Given the description of an element on the screen output the (x, y) to click on. 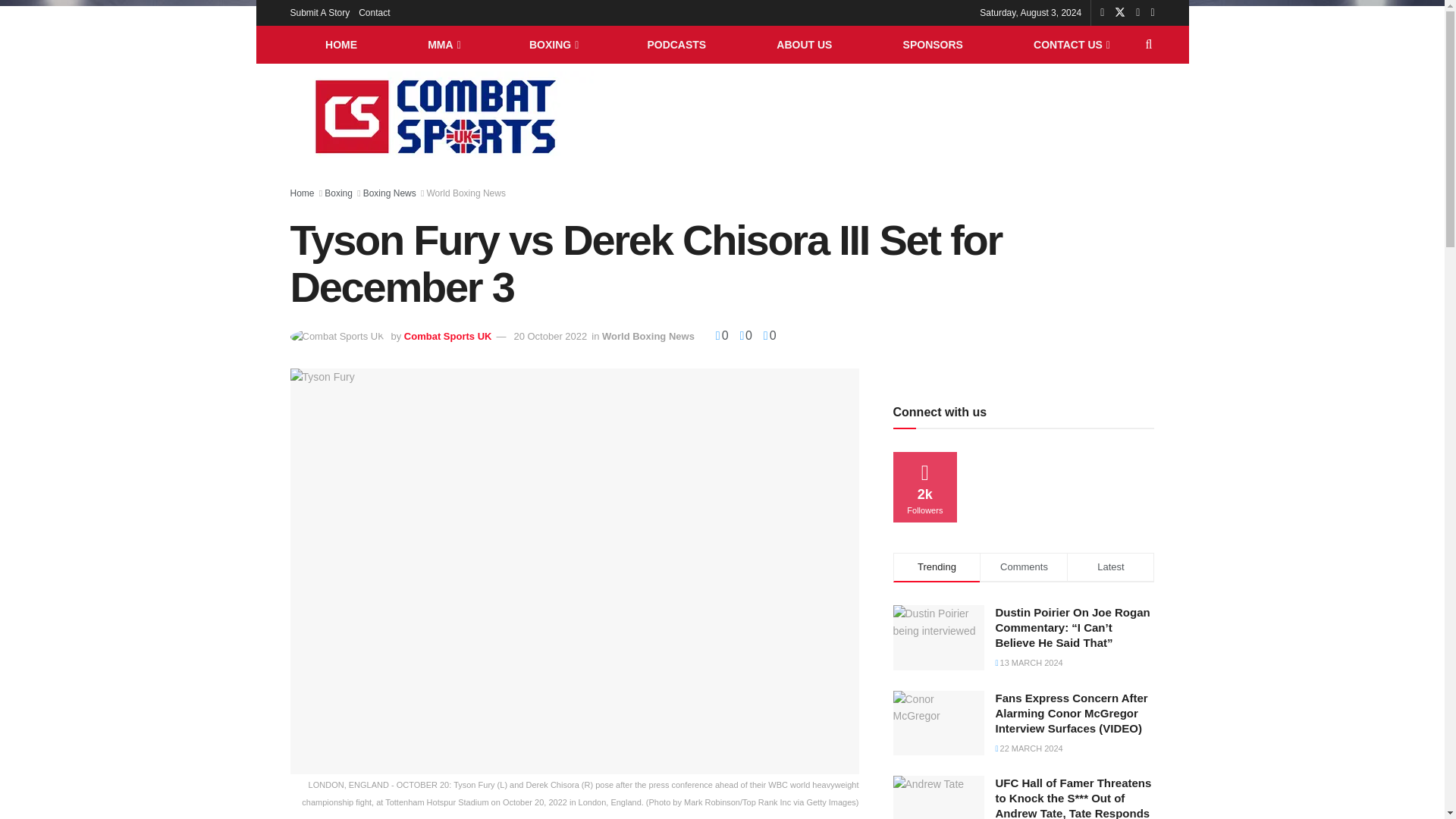
ABOUT US (804, 44)
PODCASTS (676, 44)
MMA (444, 44)
CONTACT US (1070, 44)
SPONSORS (932, 44)
BOXING (552, 44)
HOME (340, 44)
Submit A Story (319, 12)
Contact (374, 12)
